Given the description of an element on the screen output the (x, y) to click on. 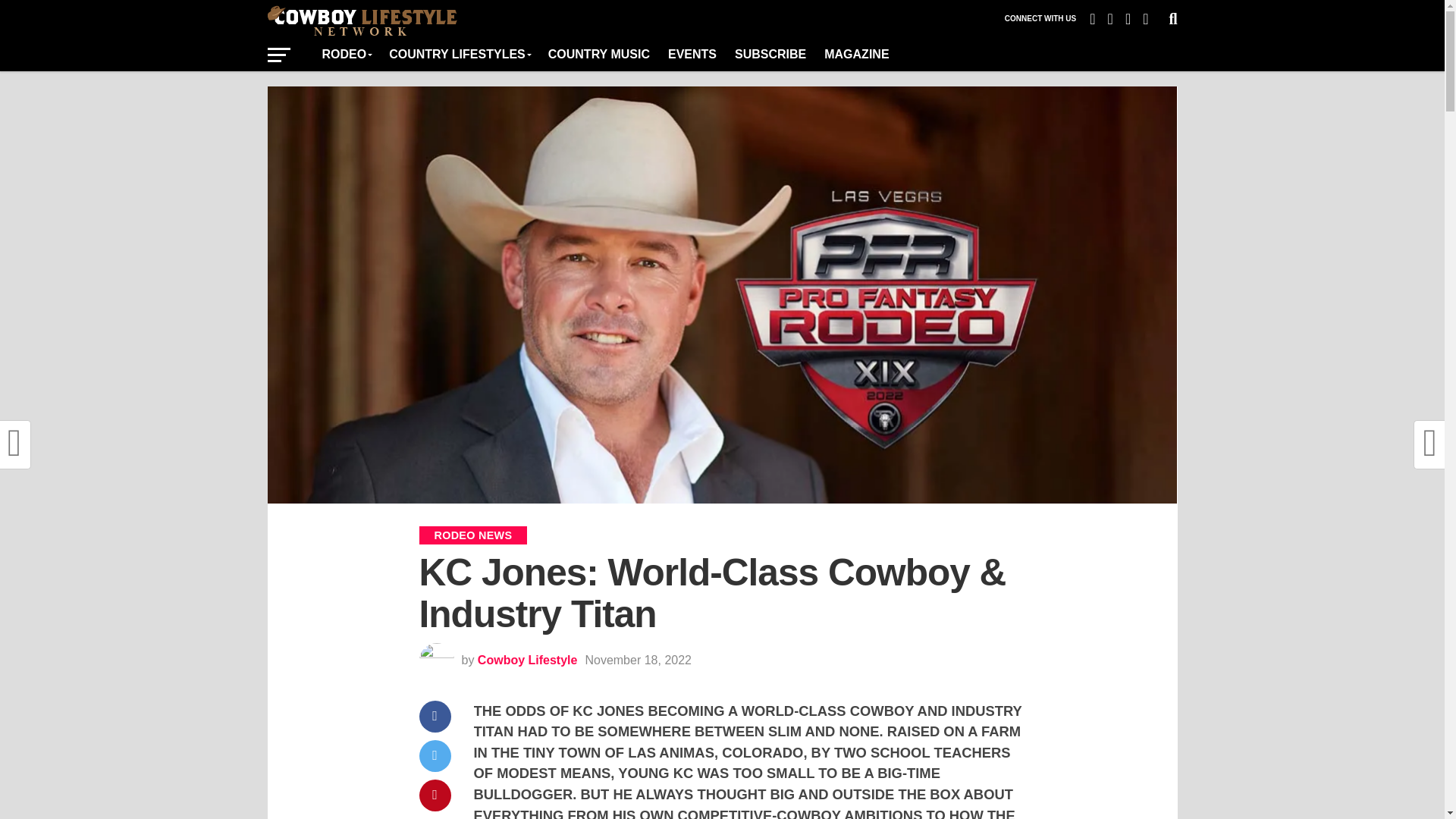
Posts by Cowboy Lifestyle (527, 659)
RODEO (346, 54)
